Given the description of an element on the screen output the (x, y) to click on. 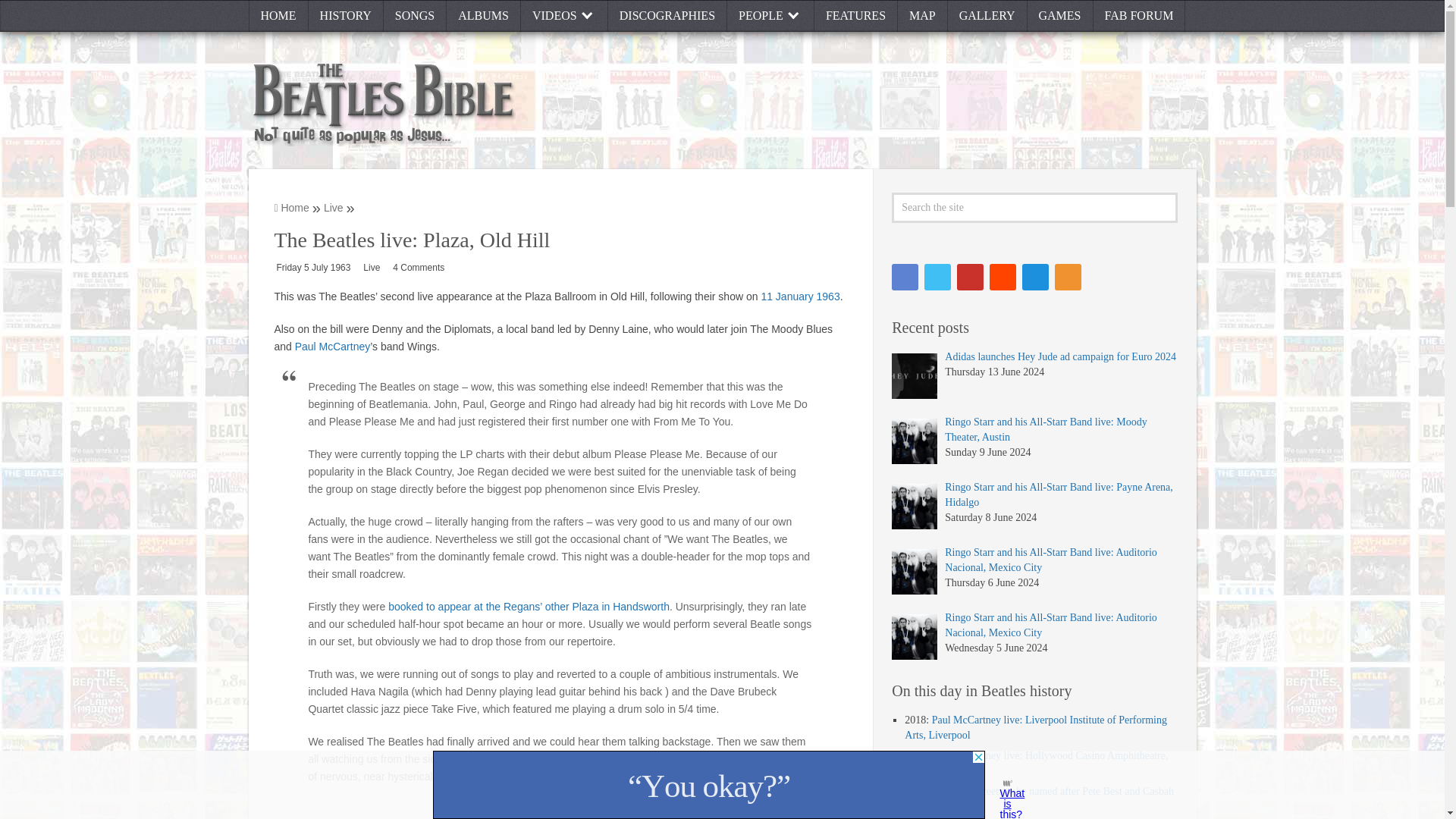
ALBUMS (483, 15)
GALLERY (987, 15)
DISCOGRAPHIES (667, 15)
MAP (922, 15)
Beatles videos (564, 15)
VIDEOS (564, 15)
Home (278, 15)
History (346, 15)
FEATURES (855, 15)
HISTORY (346, 15)
Beatle people (769, 15)
SONGS (415, 15)
HOME (278, 15)
Beatles discographies (667, 15)
PEOPLE (769, 15)
